Given the description of an element on the screen output the (x, y) to click on. 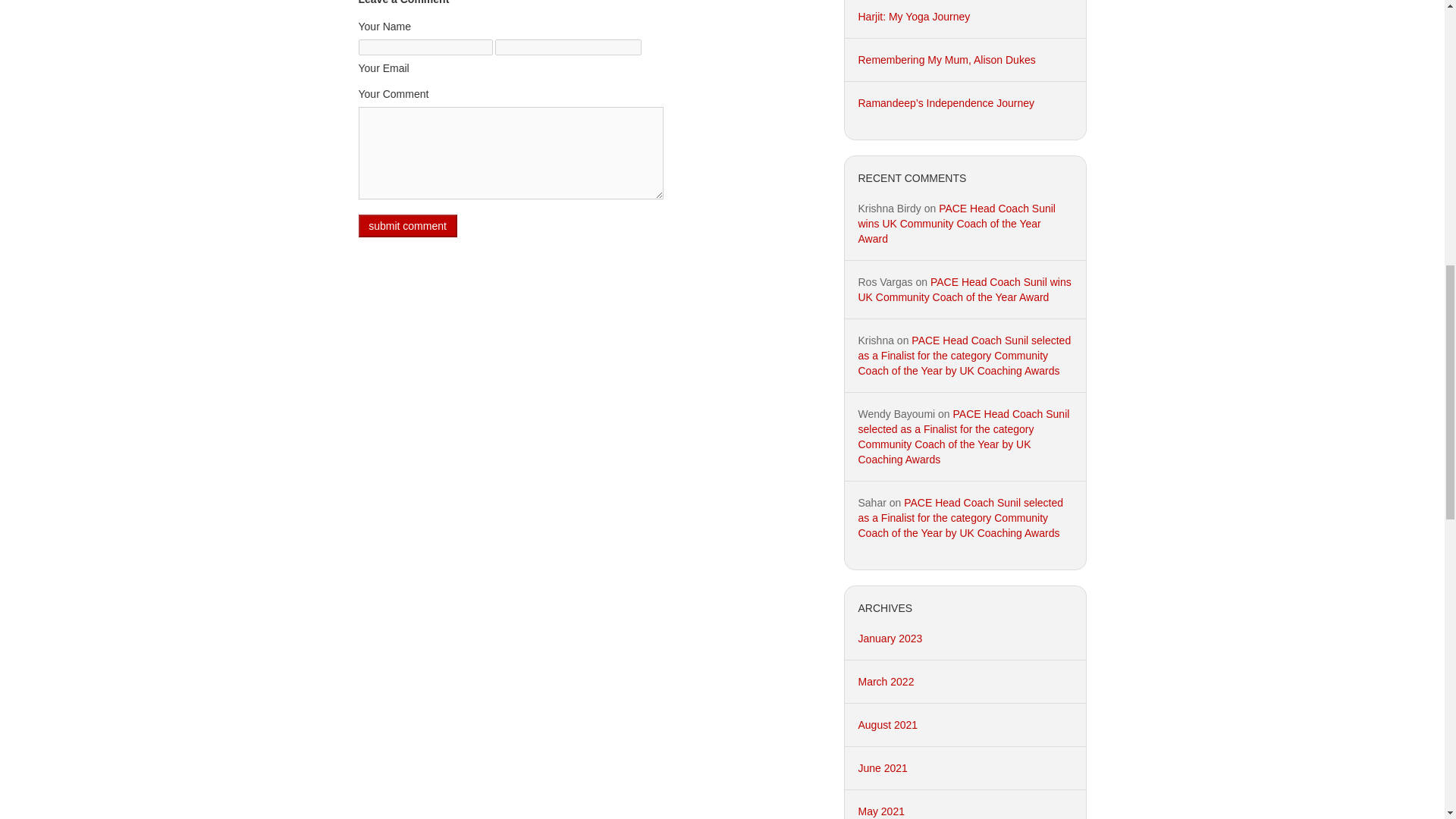
Harjit: My Yoga Journey (915, 16)
submit comment (407, 225)
Remembering My Mum, Alison Dukes (947, 60)
submit comment (407, 225)
